Given the description of an element on the screen output the (x, y) to click on. 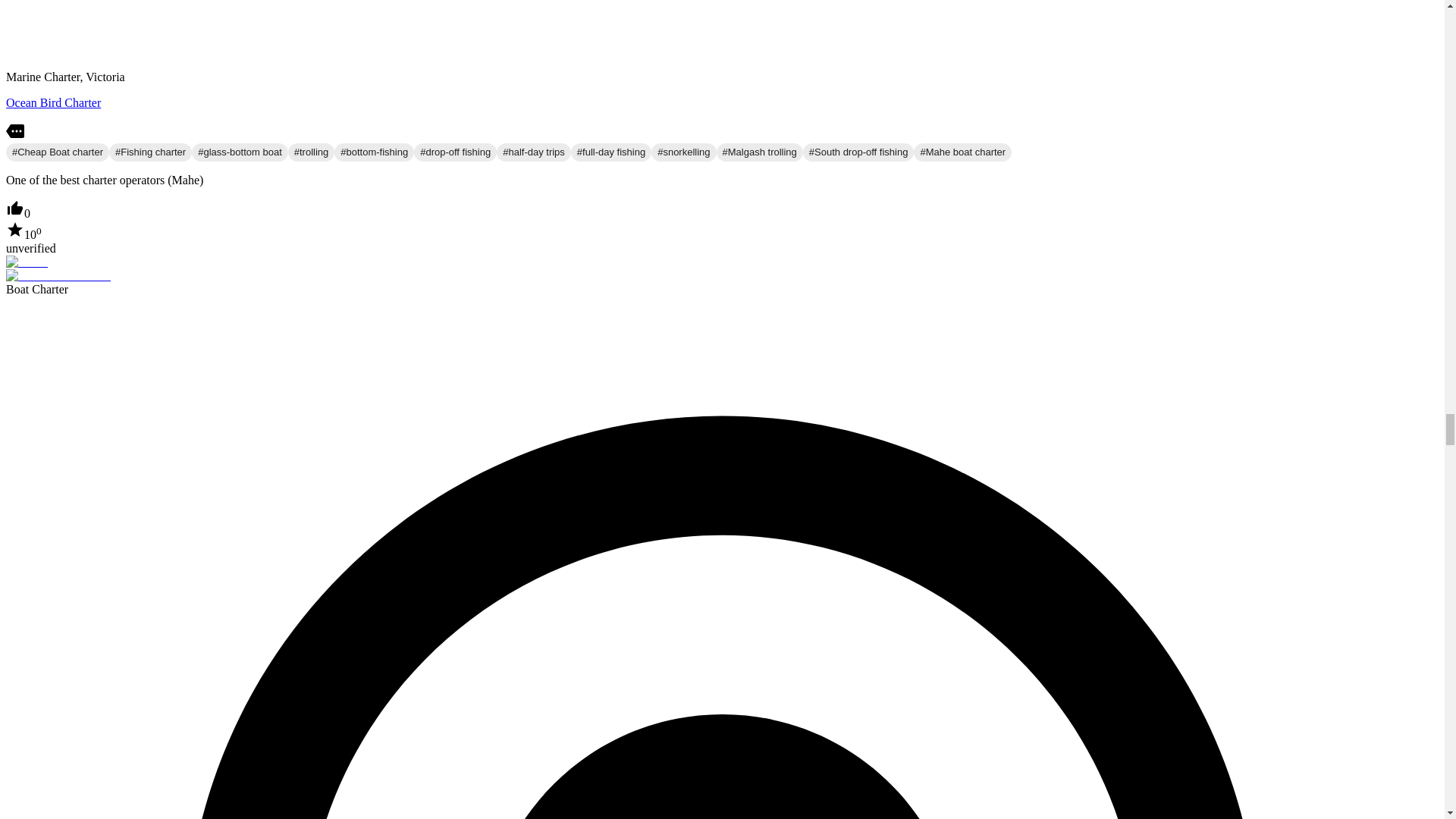
Ocean Bird Charter Seychelles (52, 102)
